Given the description of an element on the screen output the (x, y) to click on. 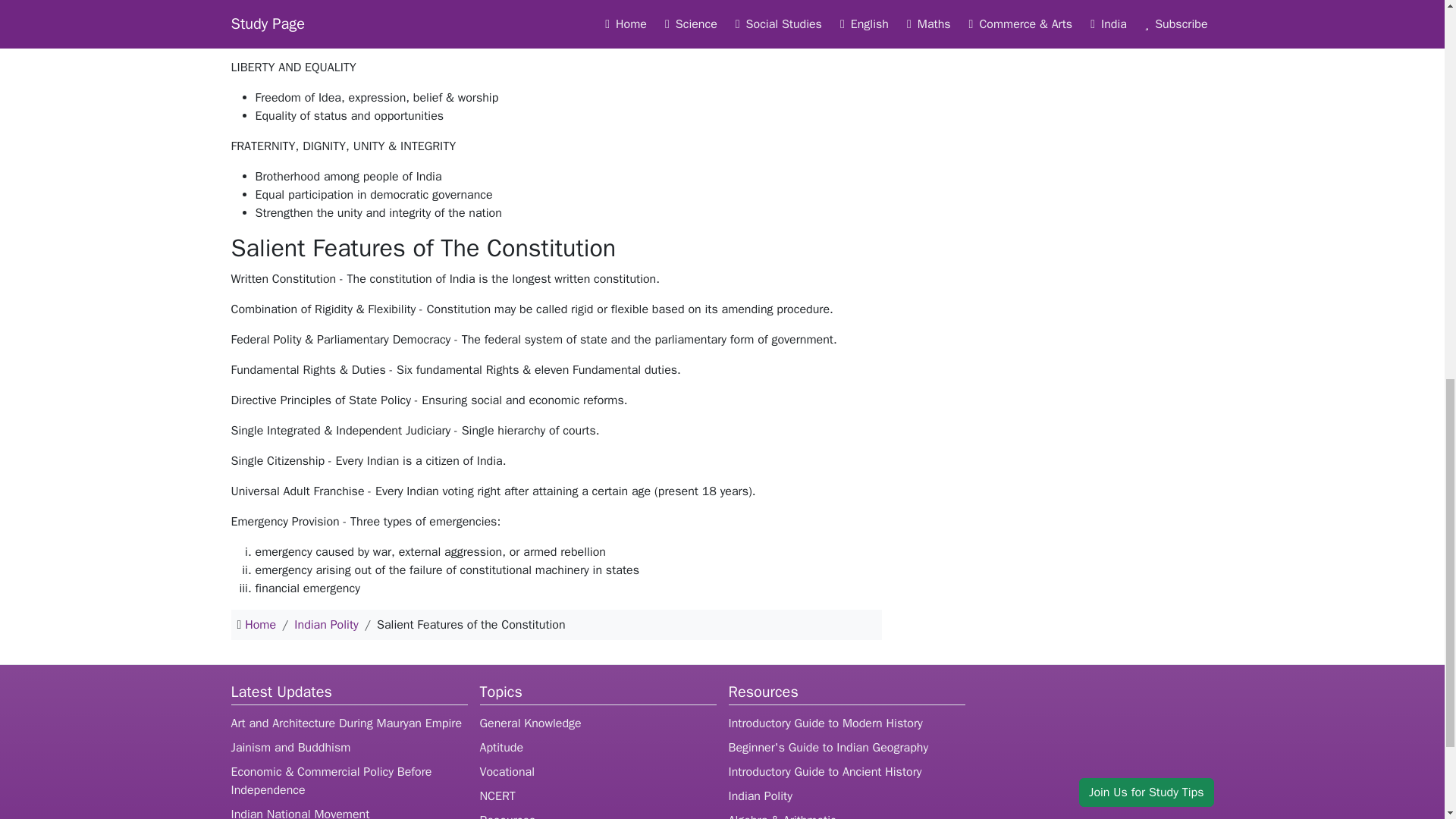
Aptitude (500, 747)
Introductory Guide to Modern History (824, 723)
NCERT (497, 795)
Introductory Guide to Modern History (824, 723)
Resources (507, 816)
Art and Architecture During Mauryan Empire (345, 723)
Jainism and Buddhism (290, 747)
Art and Architecture During Mauryan Empire (345, 723)
Indian National Movement (299, 812)
Beginner's Guide to Indian Geography (828, 747)
Jainism and Buddhism (290, 747)
Introductory Guide to Ancient History (824, 771)
Home (260, 624)
Indian Polity (760, 795)
Vocational (506, 771)
